Given the description of an element on the screen output the (x, y) to click on. 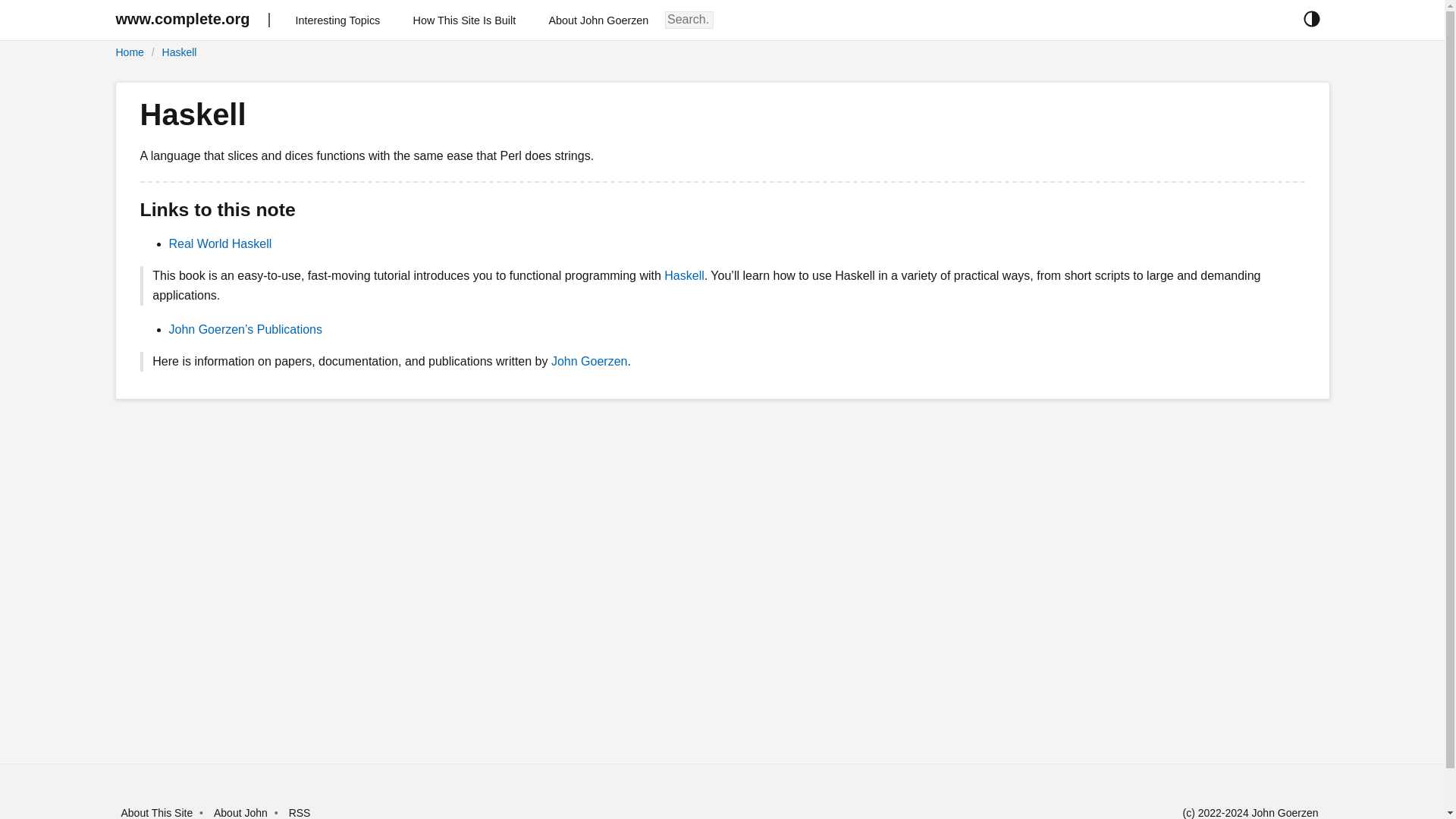
About John (240, 812)
Interesting Topics (345, 19)
Haskell (178, 51)
Haskell (683, 275)
About John Goerzen (598, 19)
Interesting Topics (345, 19)
About This Site (156, 812)
RSS (299, 812)
How This Site Is Built (464, 19)
About John (240, 812)
About This Site (156, 812)
www.complete.org (181, 20)
About John Goerzen (598, 19)
How This Site Is Built (464, 19)
John Goerzen (589, 360)
